Given the description of an element on the screen output the (x, y) to click on. 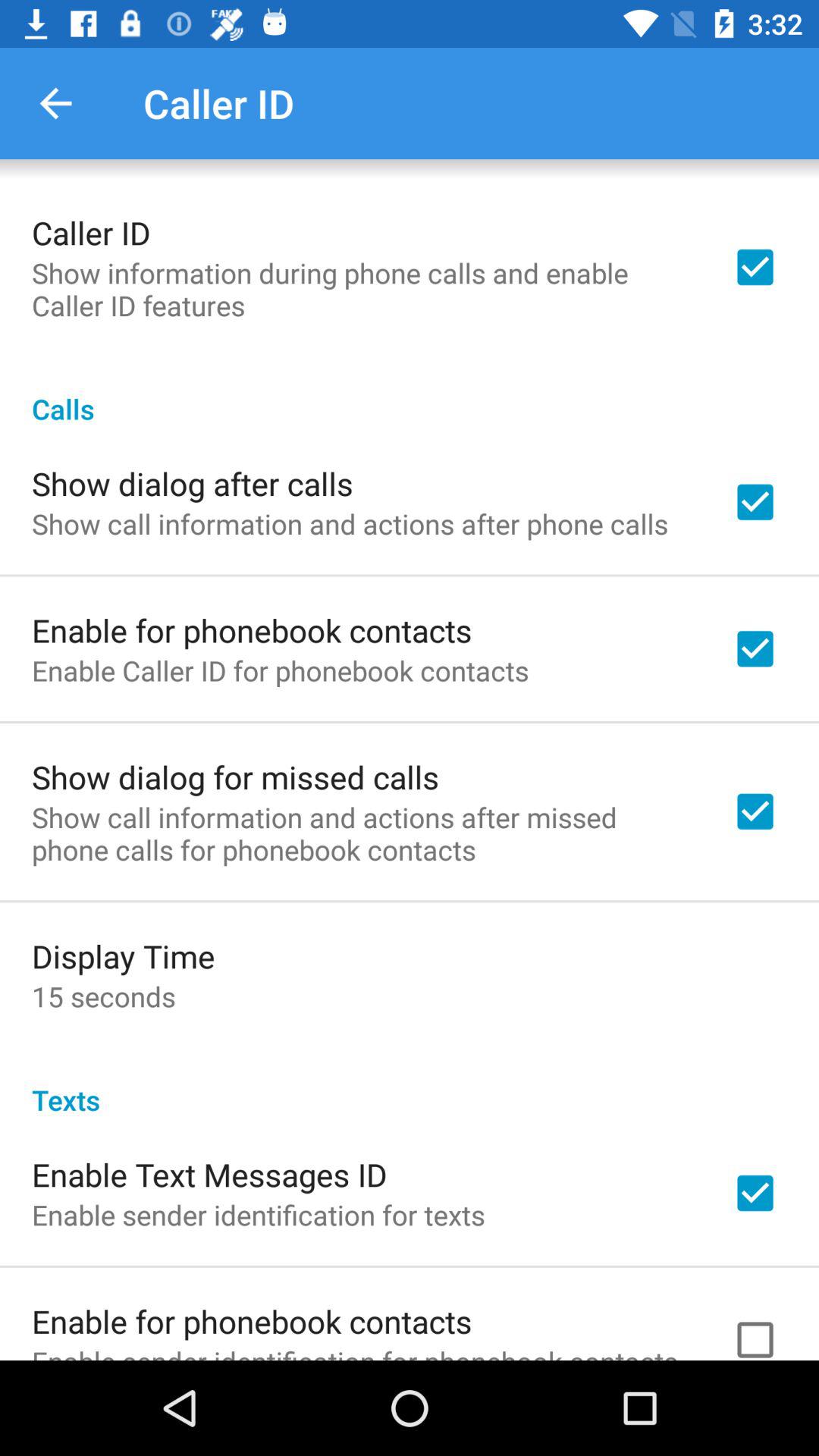
select enable text messages icon (209, 1174)
